Given the description of an element on the screen output the (x, y) to click on. 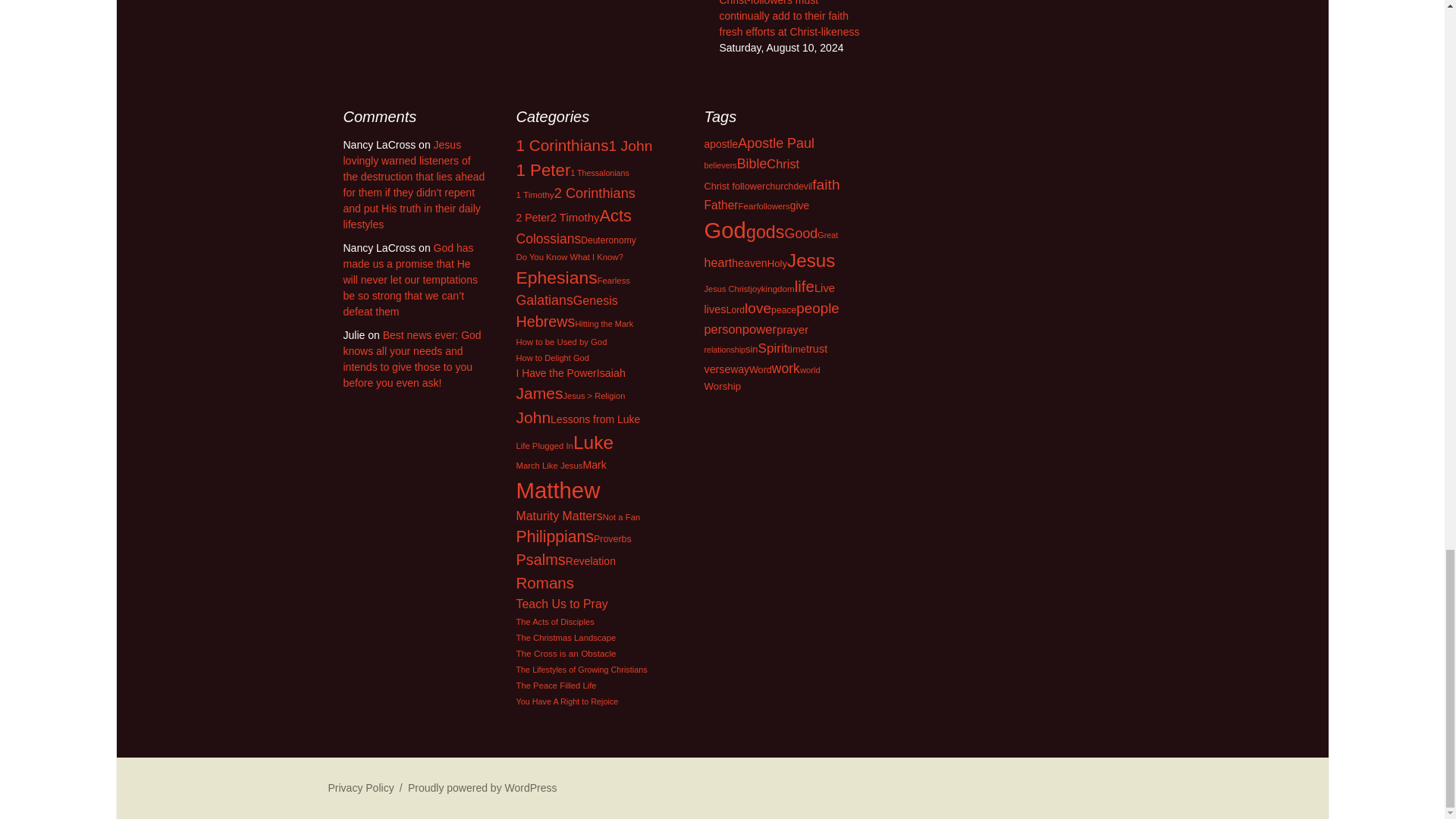
1 Timothy (534, 194)
1 John (630, 145)
2 Peter (532, 217)
1 Corinthians (561, 144)
1 Peter (542, 169)
2 Corinthians (594, 192)
1 Thessalonians (599, 172)
